Given the description of an element on the screen output the (x, y) to click on. 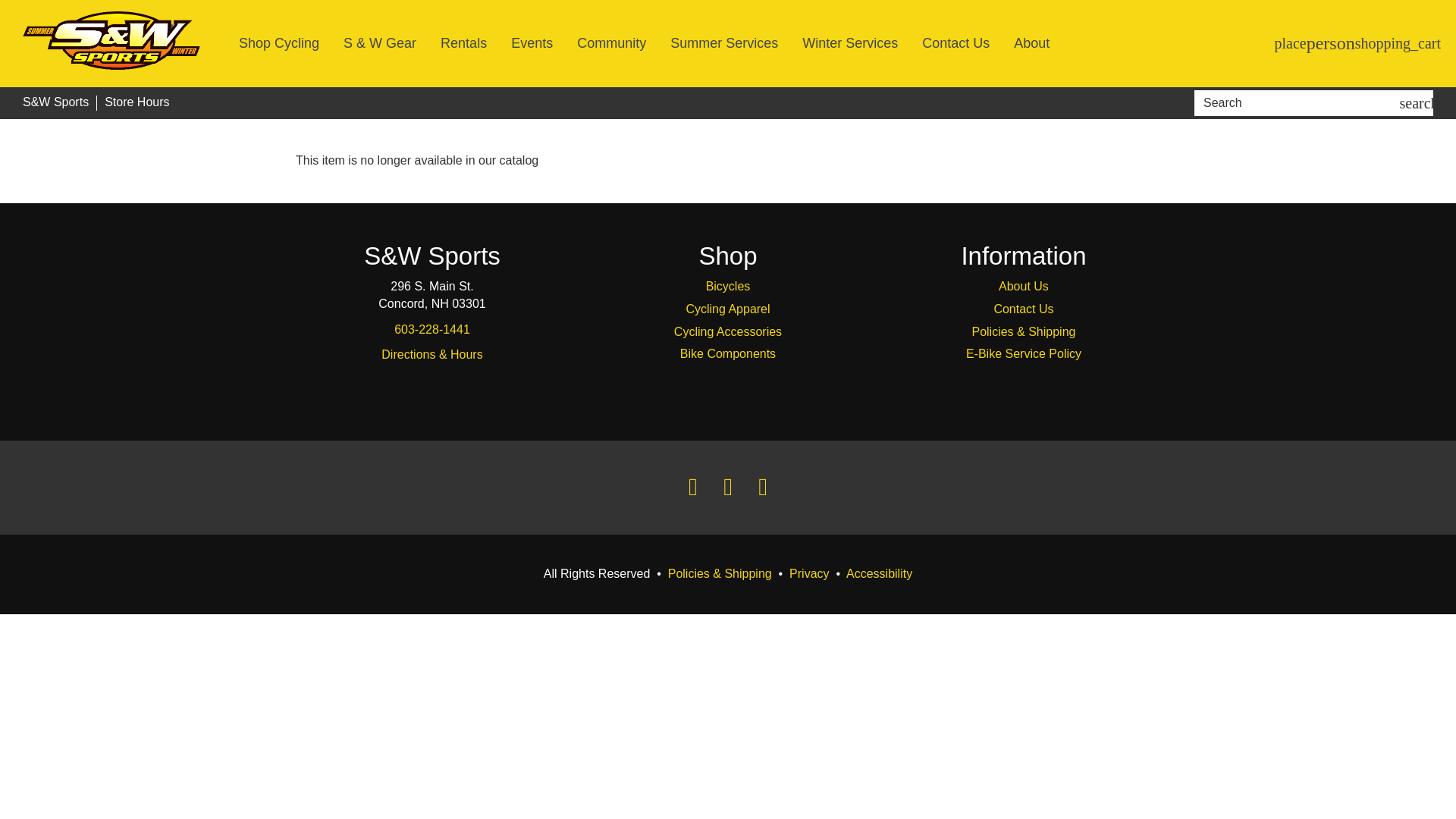
Search (1299, 103)
Store Hours (136, 102)
Stores (1290, 43)
Account (1330, 43)
Shop Cycling (278, 42)
